Given the description of an element on the screen output the (x, y) to click on. 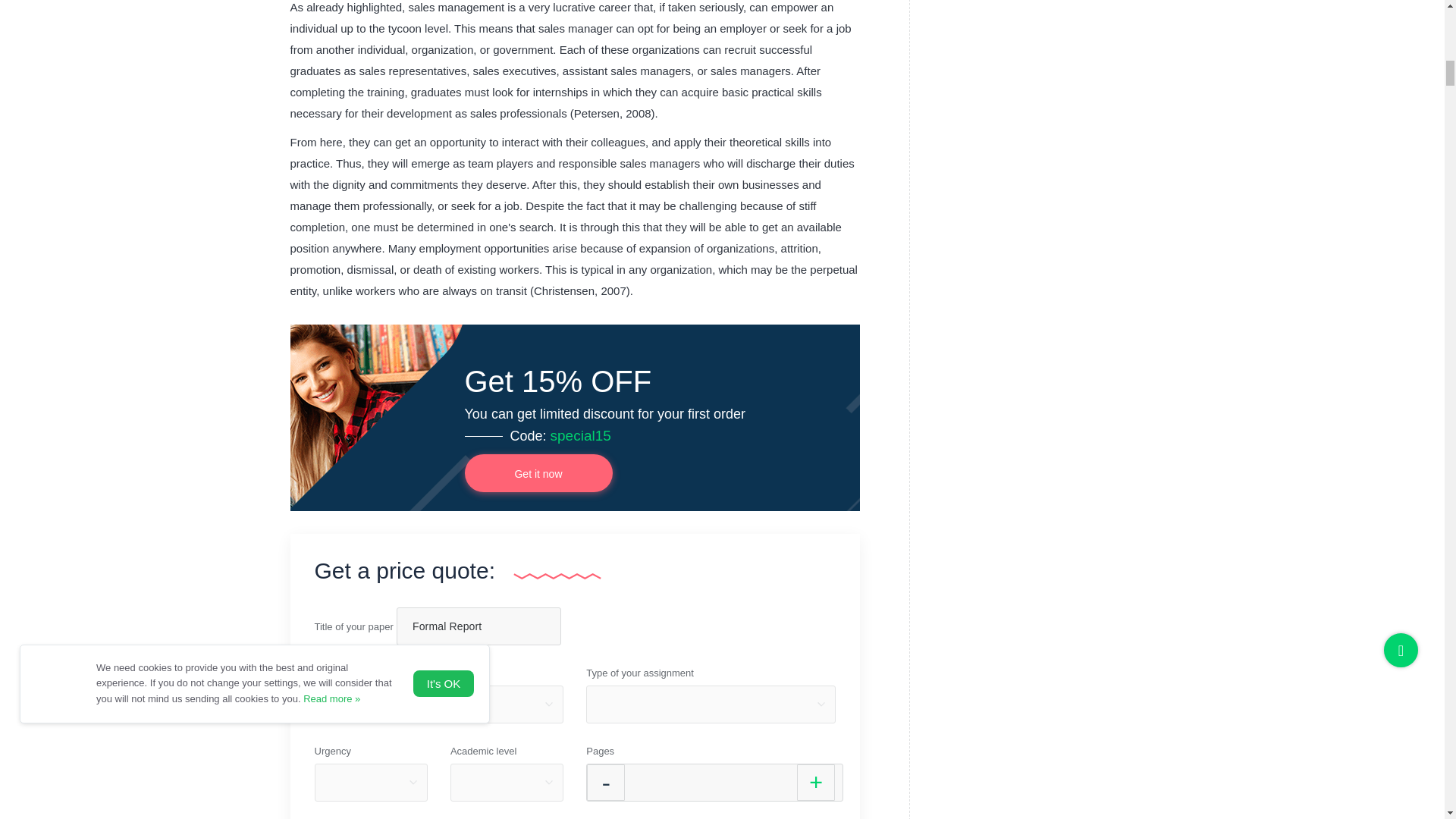
Plus (815, 782)
Minus (605, 782)
Get it now (537, 473)
Formal Report (478, 626)
